Given the description of an element on the screen output the (x, y) to click on. 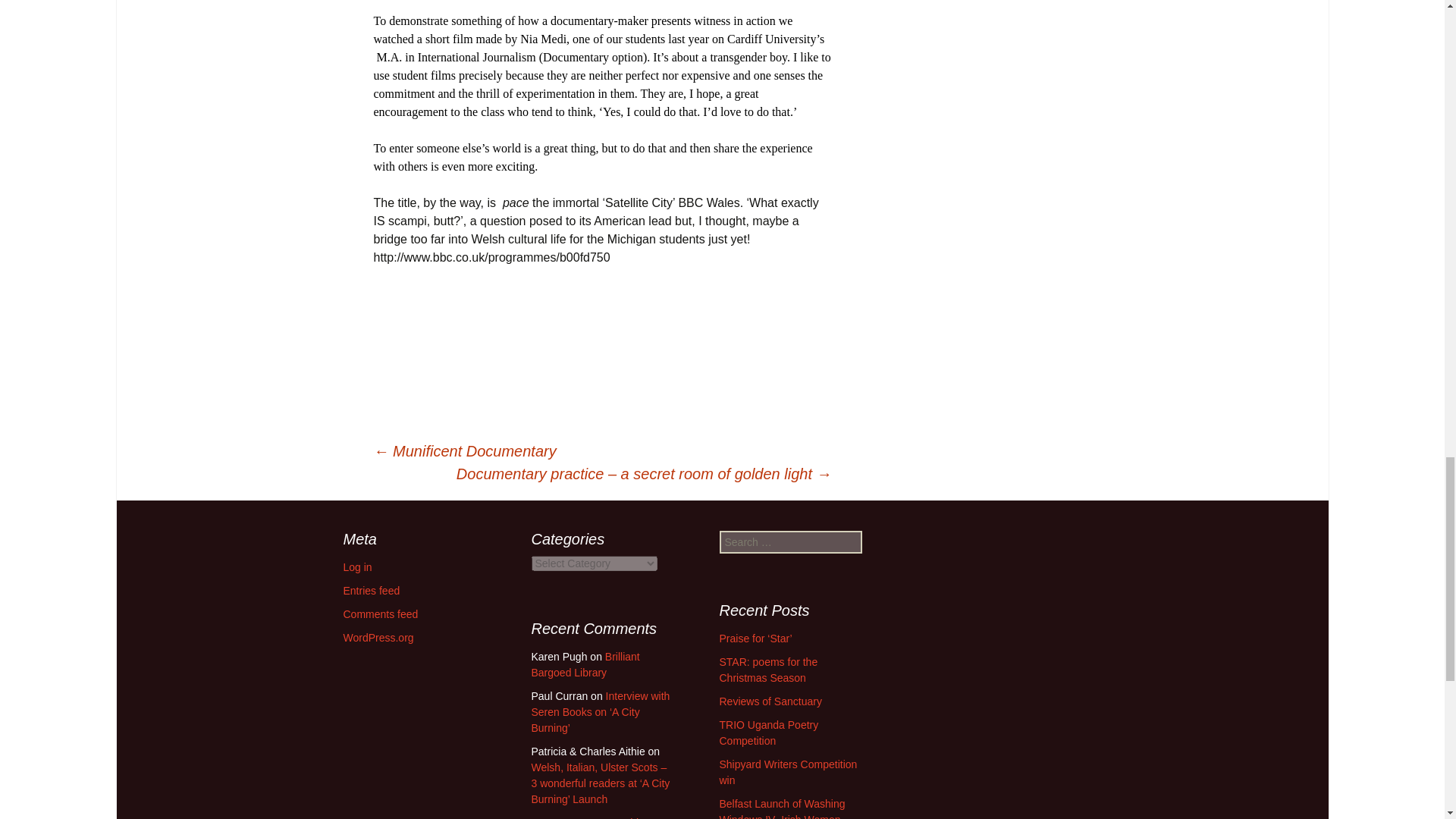
STAR: poems for the Christmas Season (767, 669)
Entries feed (370, 590)
WordPress.org (377, 637)
Comments feed (379, 613)
Log in (356, 567)
